Given the description of an element on the screen output the (x, y) to click on. 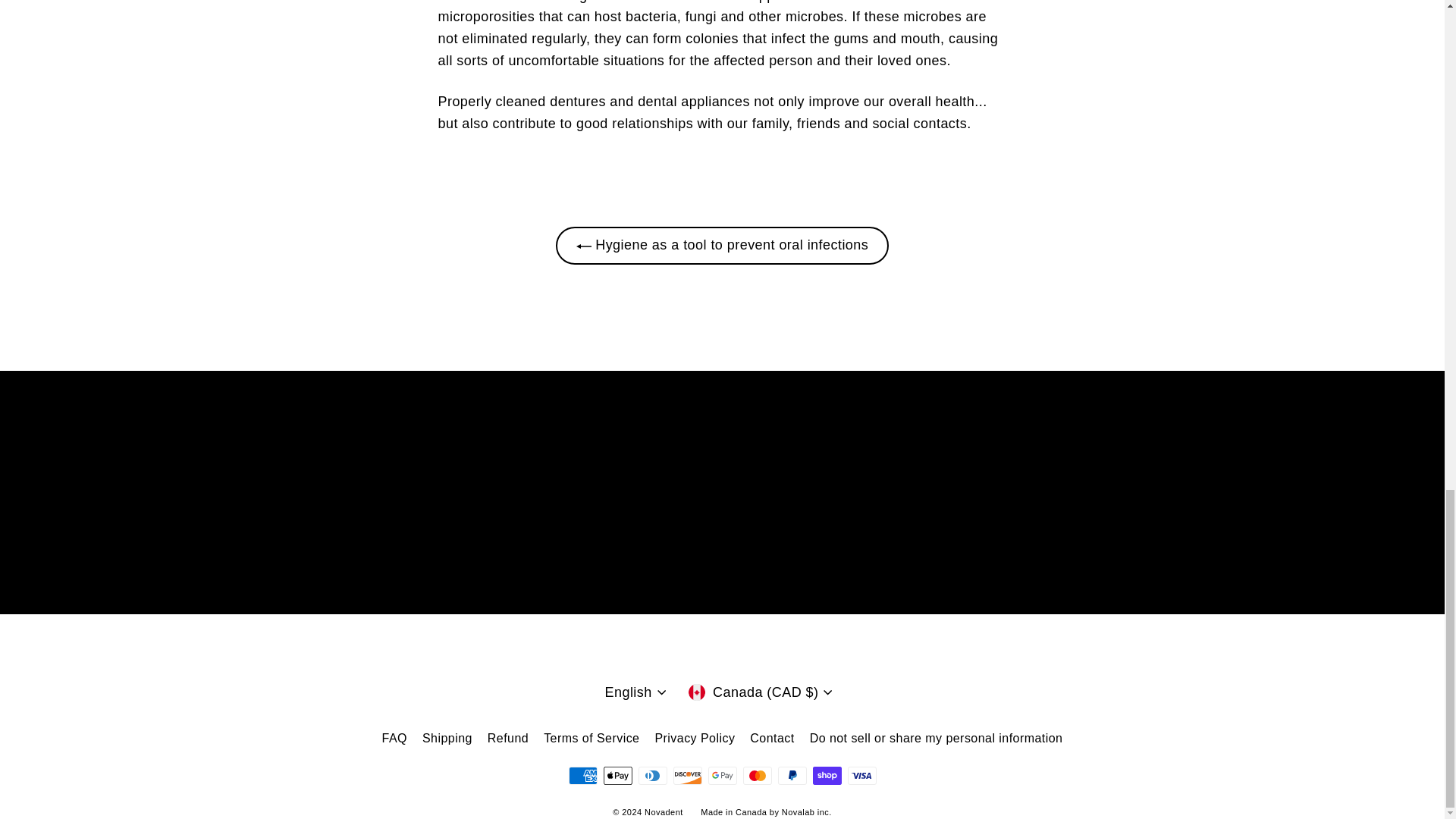
Privacy Policy (694, 738)
FAQ (394, 738)
Apple Pay (617, 775)
Discover (686, 775)
Mastercard (756, 775)
Terms of Service (590, 738)
Visa (861, 775)
Google Pay (721, 775)
Shop Pay (826, 775)
Refund (507, 738)
